Given the description of an element on the screen output the (x, y) to click on. 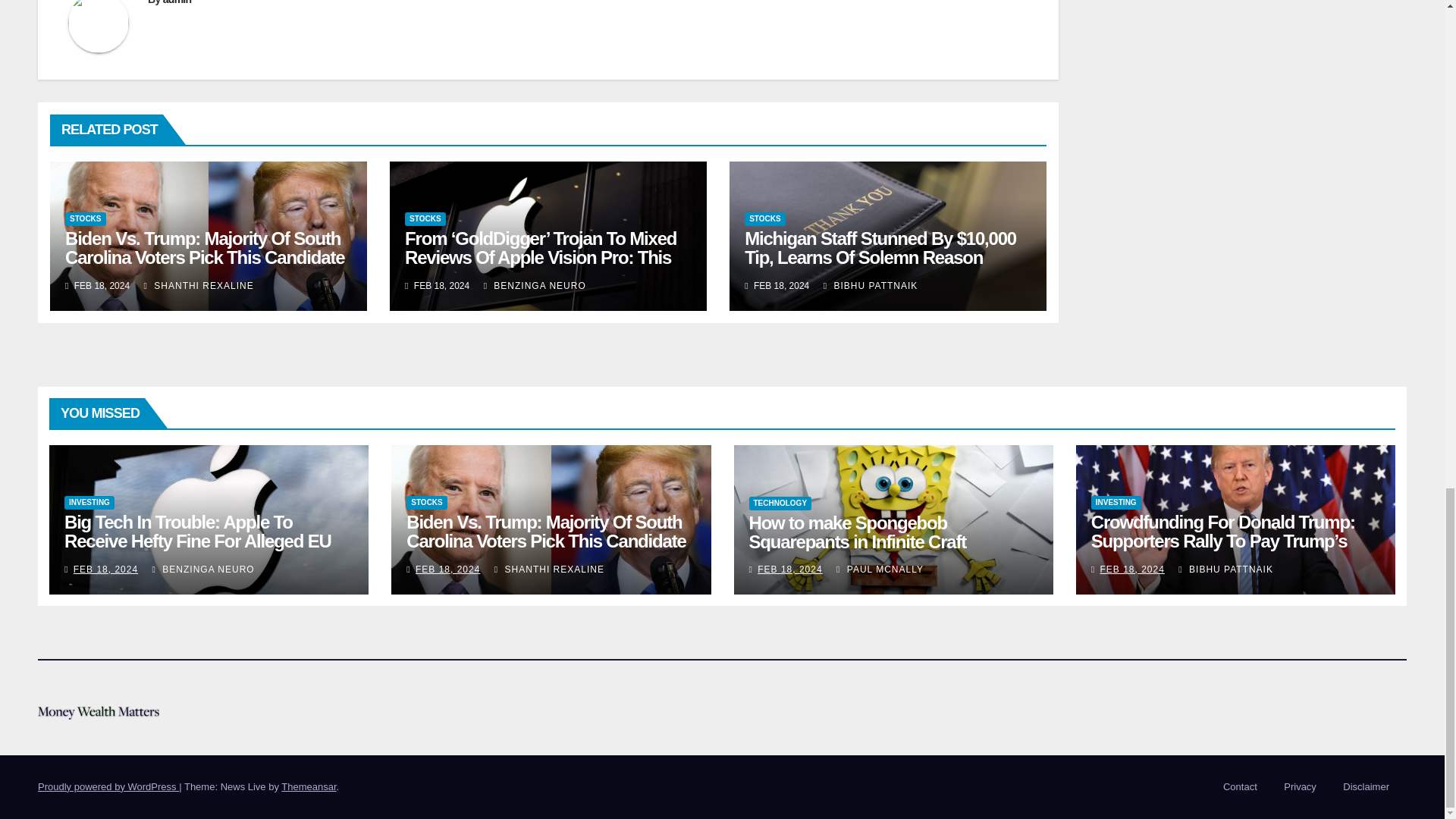
Privacy (1300, 786)
Contact (1240, 786)
Disclaimer (1365, 786)
